Given the description of an element on the screen output the (x, y) to click on. 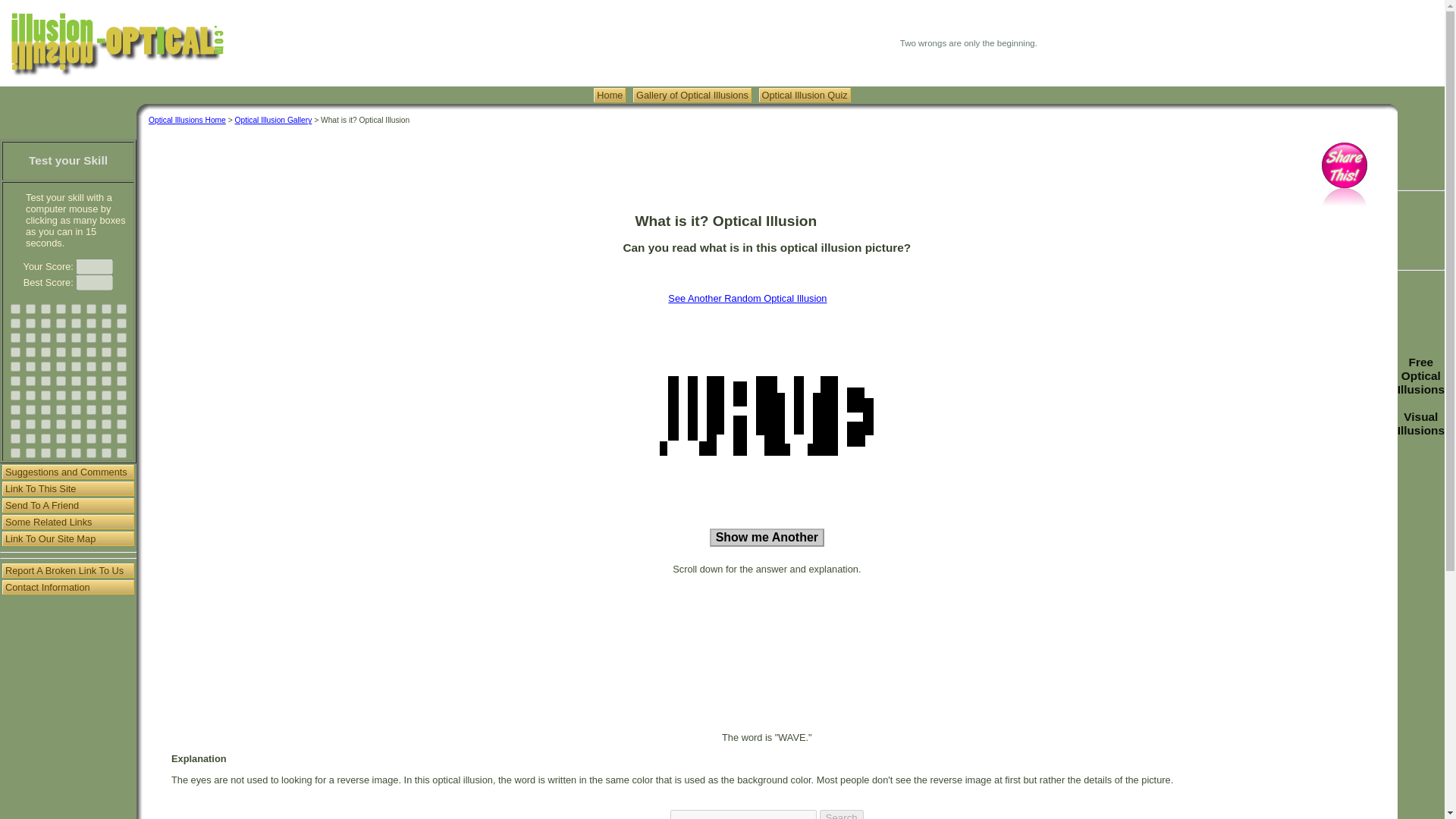
Optical Illusion Gallery (692, 94)
Home (610, 94)
Include a link to our site on your website. (67, 488)
Report A Broken Link To Us (67, 570)
on (60, 308)
on (15, 308)
Link To This Site (67, 488)
on (45, 323)
Go to other related websites. (67, 522)
on (106, 308)
on (30, 308)
on (121, 308)
on (15, 323)
Search (840, 814)
on (60, 323)
